Given the description of an element on the screen output the (x, y) to click on. 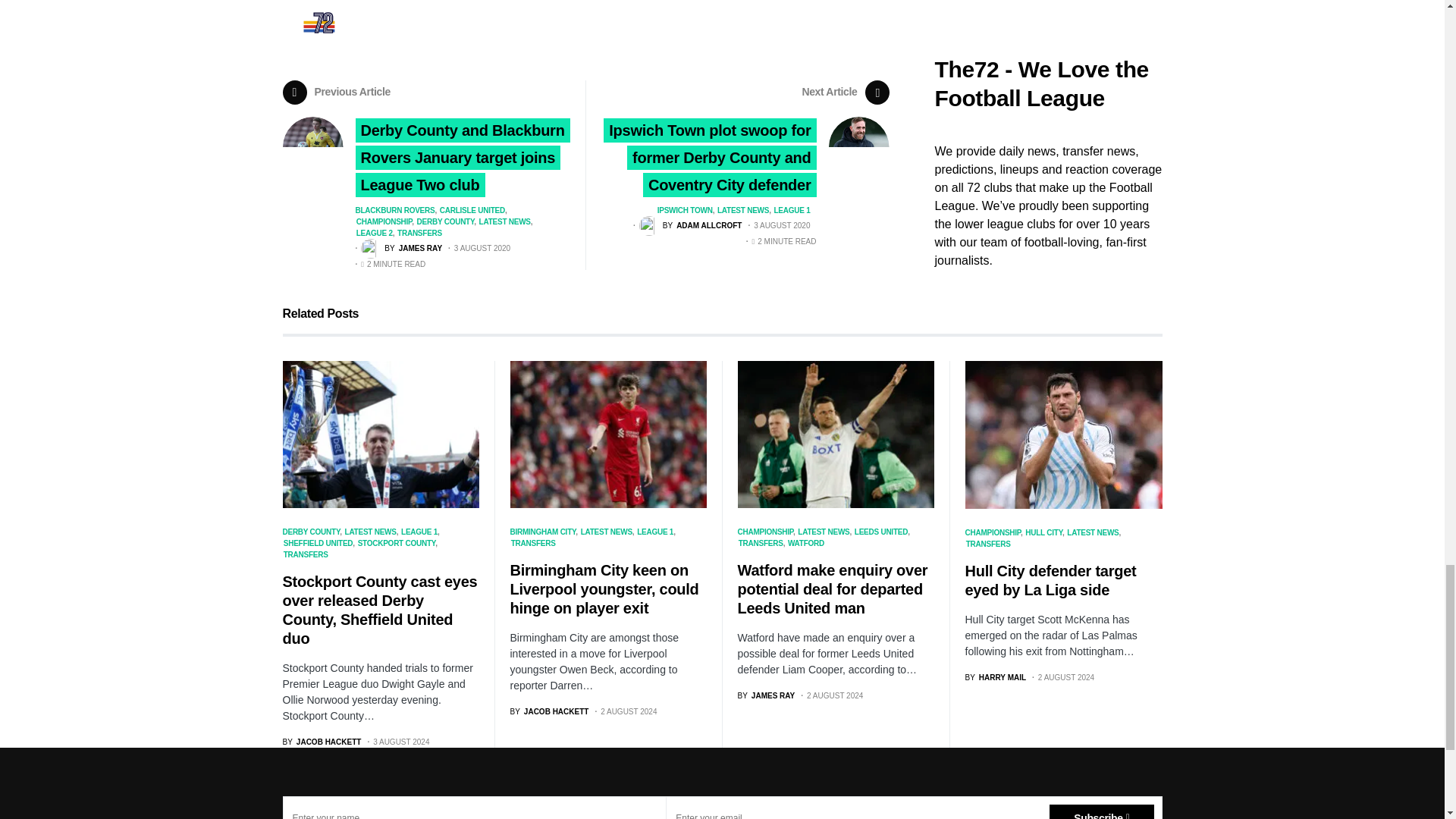
View all posts by James Ray (401, 248)
View all posts by Jacob Hackett (321, 741)
View all posts by Adam Allcroft (690, 225)
View all posts by Jacob Hackett (548, 711)
View all posts by James Ray (765, 695)
View all posts by Harry Mail (994, 677)
